Given the description of an element on the screen output the (x, y) to click on. 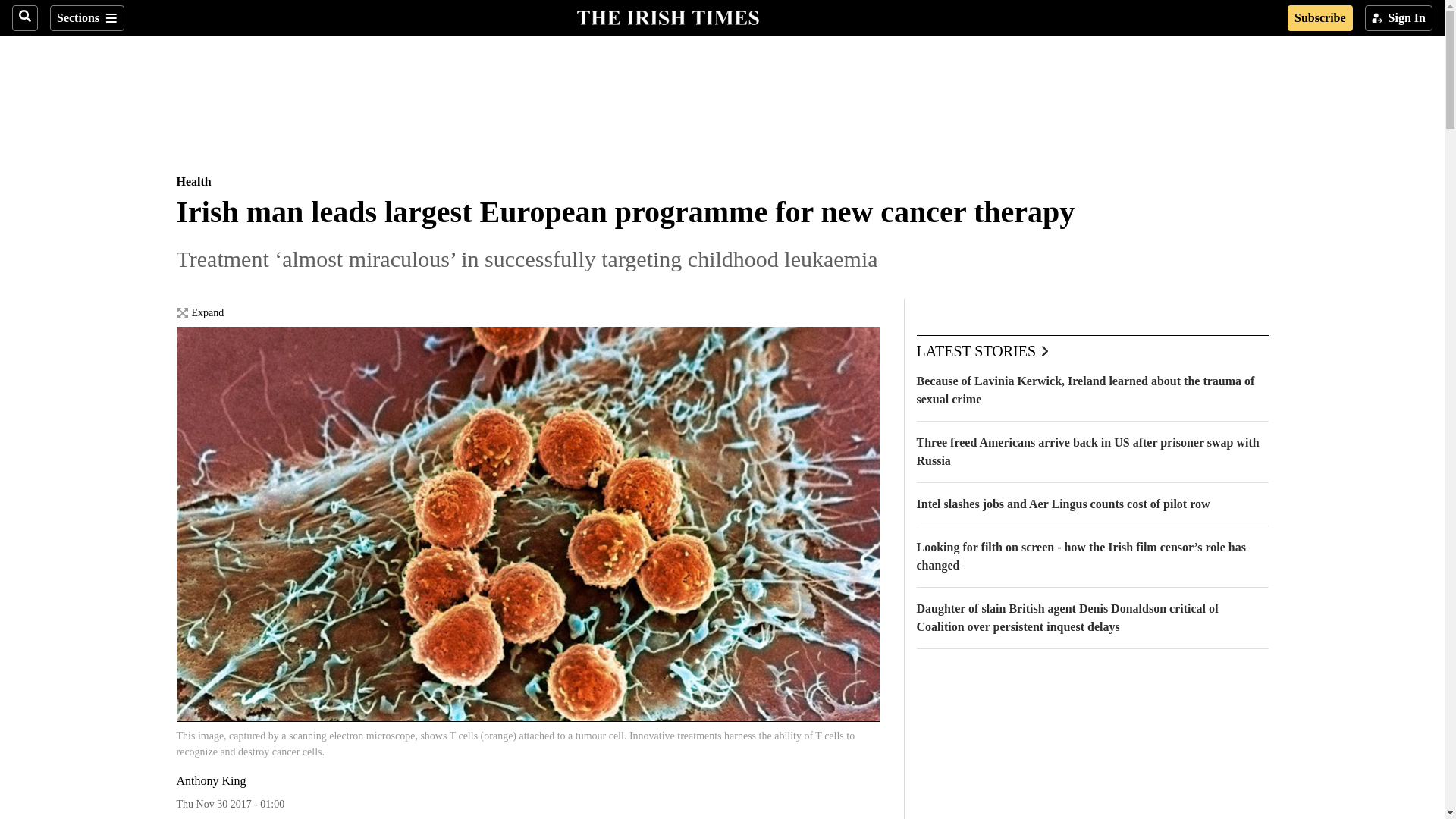
Subscribe (1319, 17)
Sign In (1398, 17)
The Irish Times (667, 16)
Sections (86, 17)
